Given the description of an element on the screen output the (x, y) to click on. 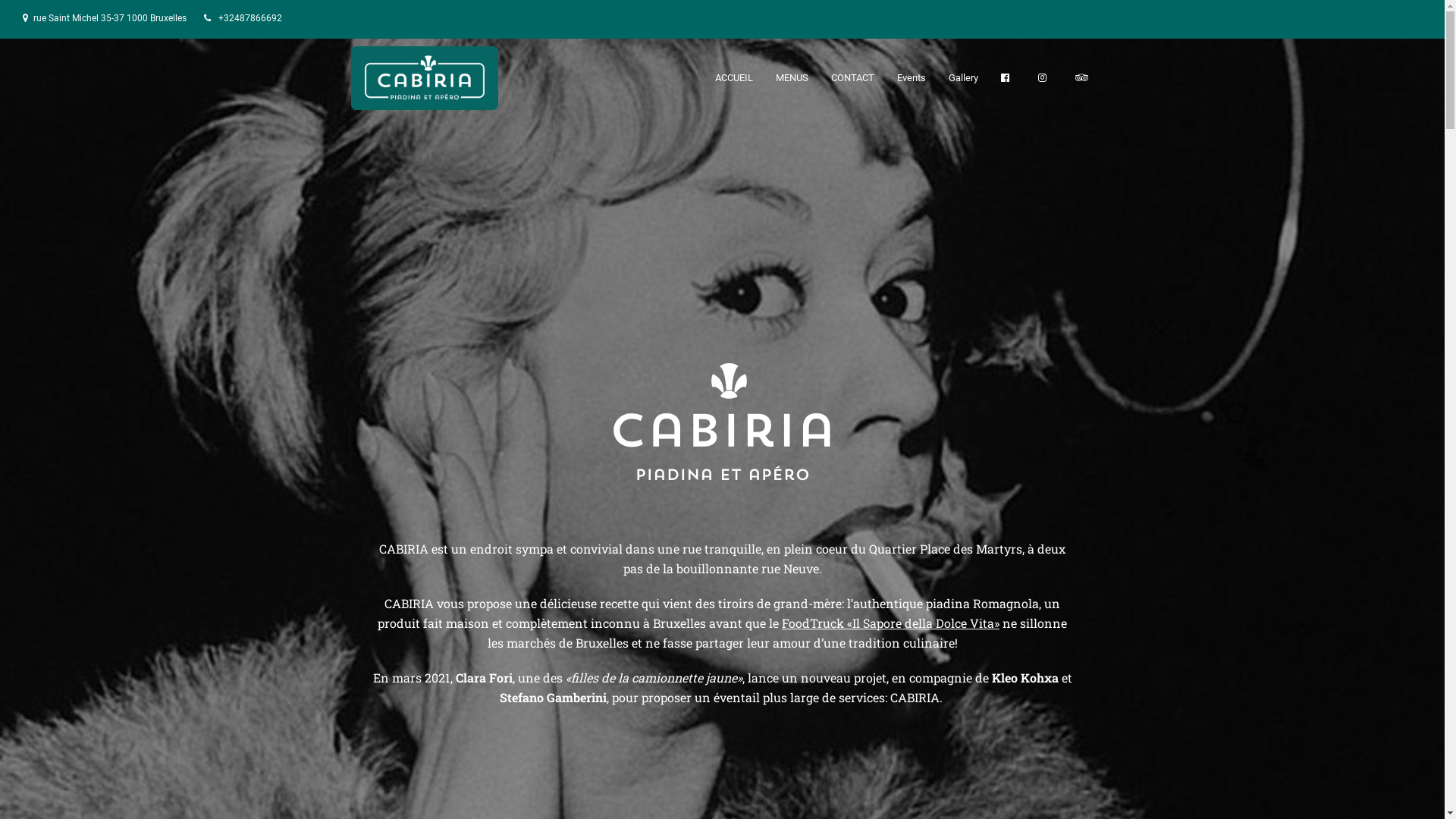
Events Element type: text (911, 78)
MENUS Element type: text (791, 78)
+32487866692 Element type: text (250, 17)
CONTACT Element type: text (852, 78)
ACCUEIL Element type: text (733, 78)
Gallery Element type: text (963, 78)
